Given the description of an element on the screen output the (x, y) to click on. 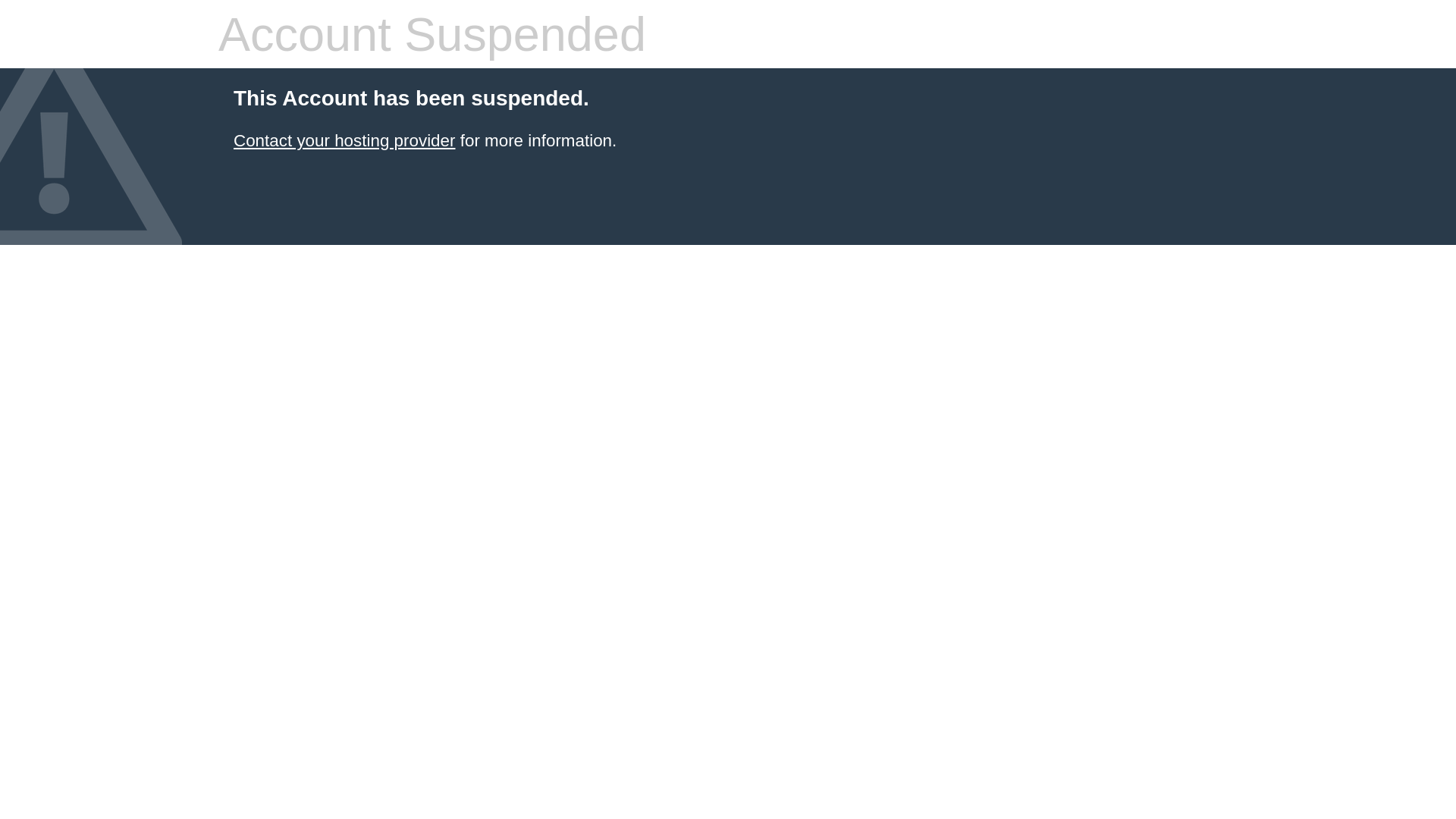
Contact your hosting provider Element type: text (344, 140)
